Given the description of an element on the screen output the (x, y) to click on. 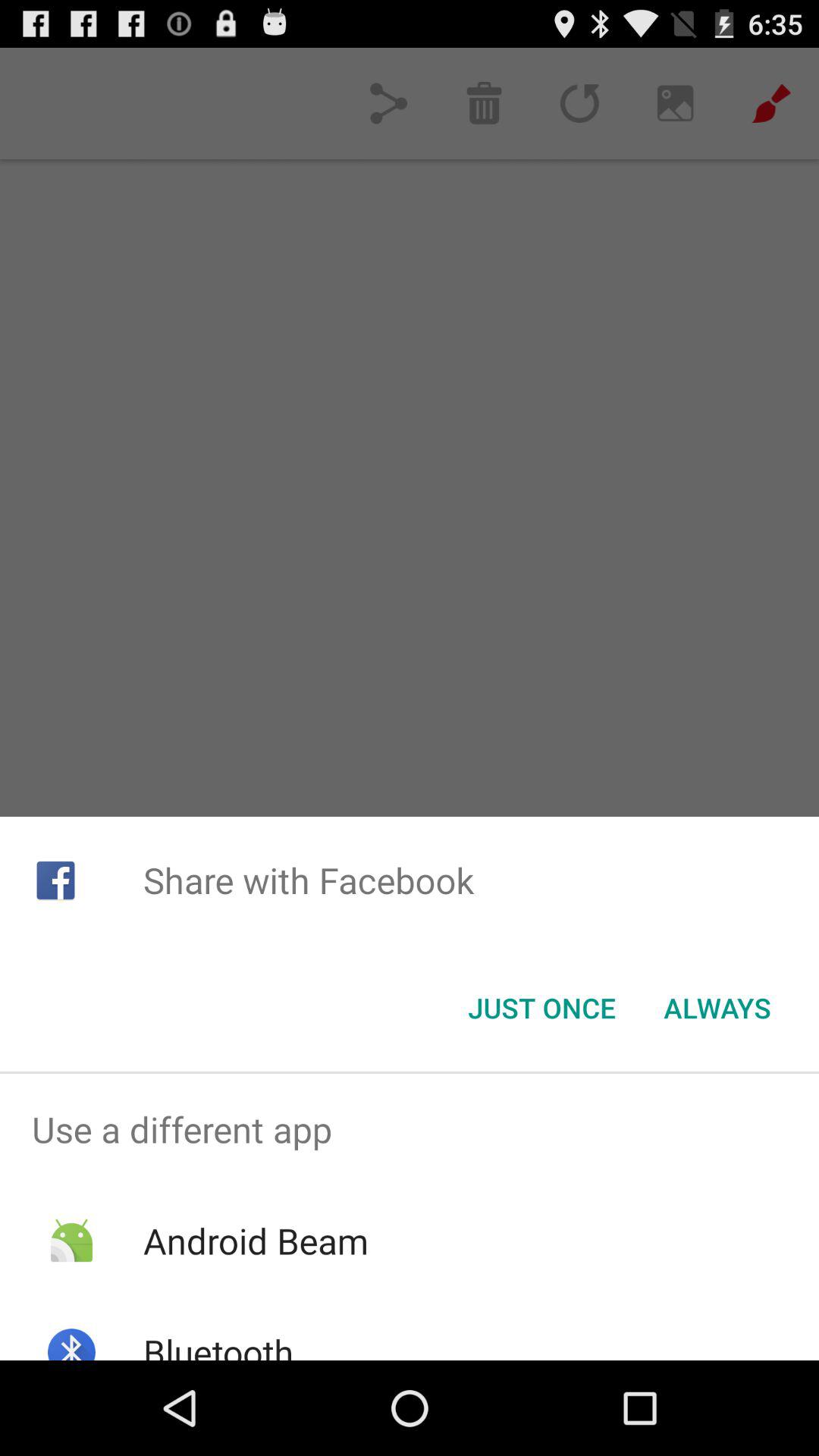
turn on icon to the left of always icon (541, 1007)
